Given the description of an element on the screen output the (x, y) to click on. 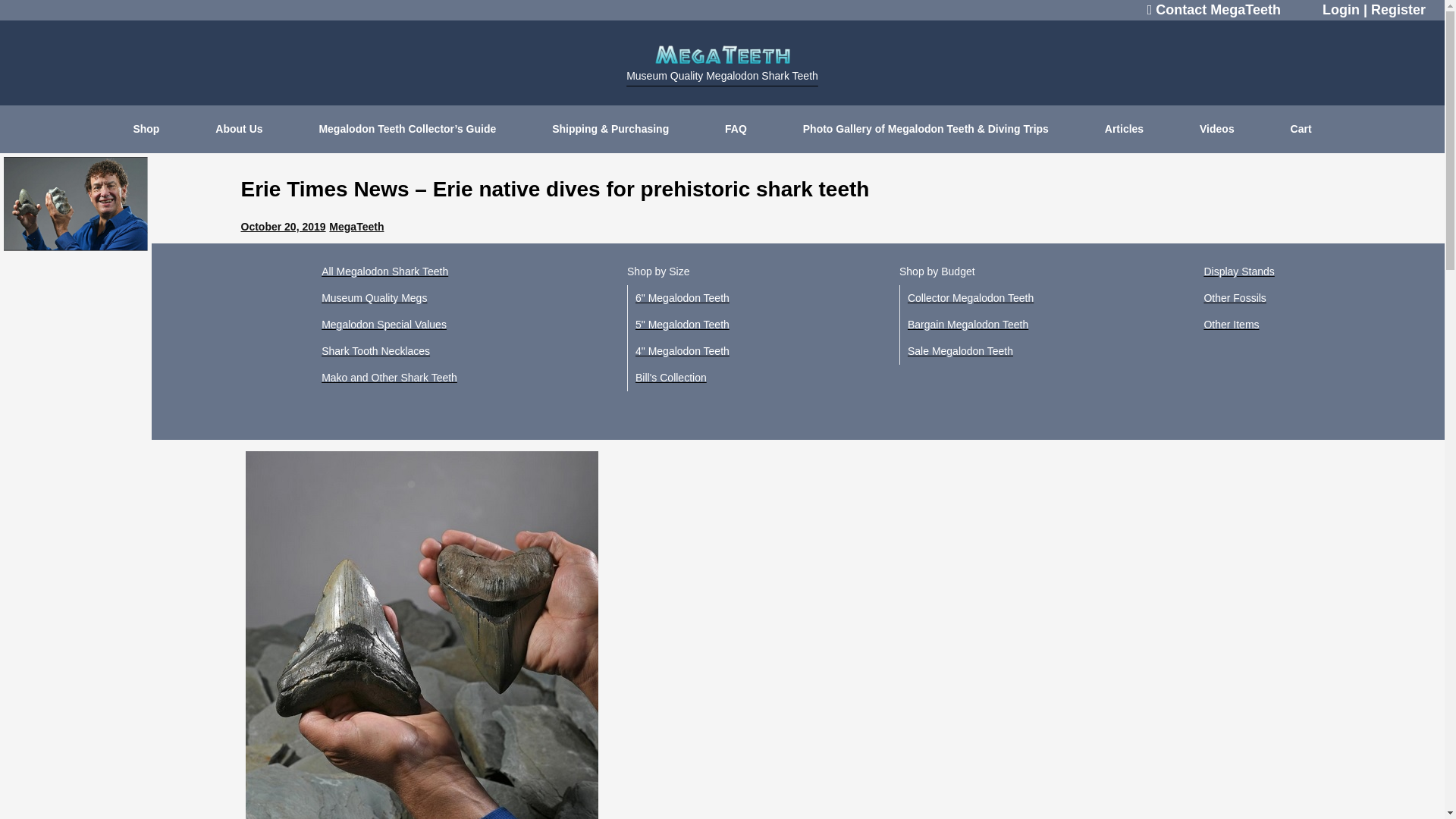
Contact MegaTeeth (1215, 12)
Videos (1216, 128)
Museum Quality Megalodon Shark Teeth (722, 66)
About Us (238, 128)
Articles (1123, 128)
Megalodon teeth for sale (422, 635)
